Given the description of an element on the screen output the (x, y) to click on. 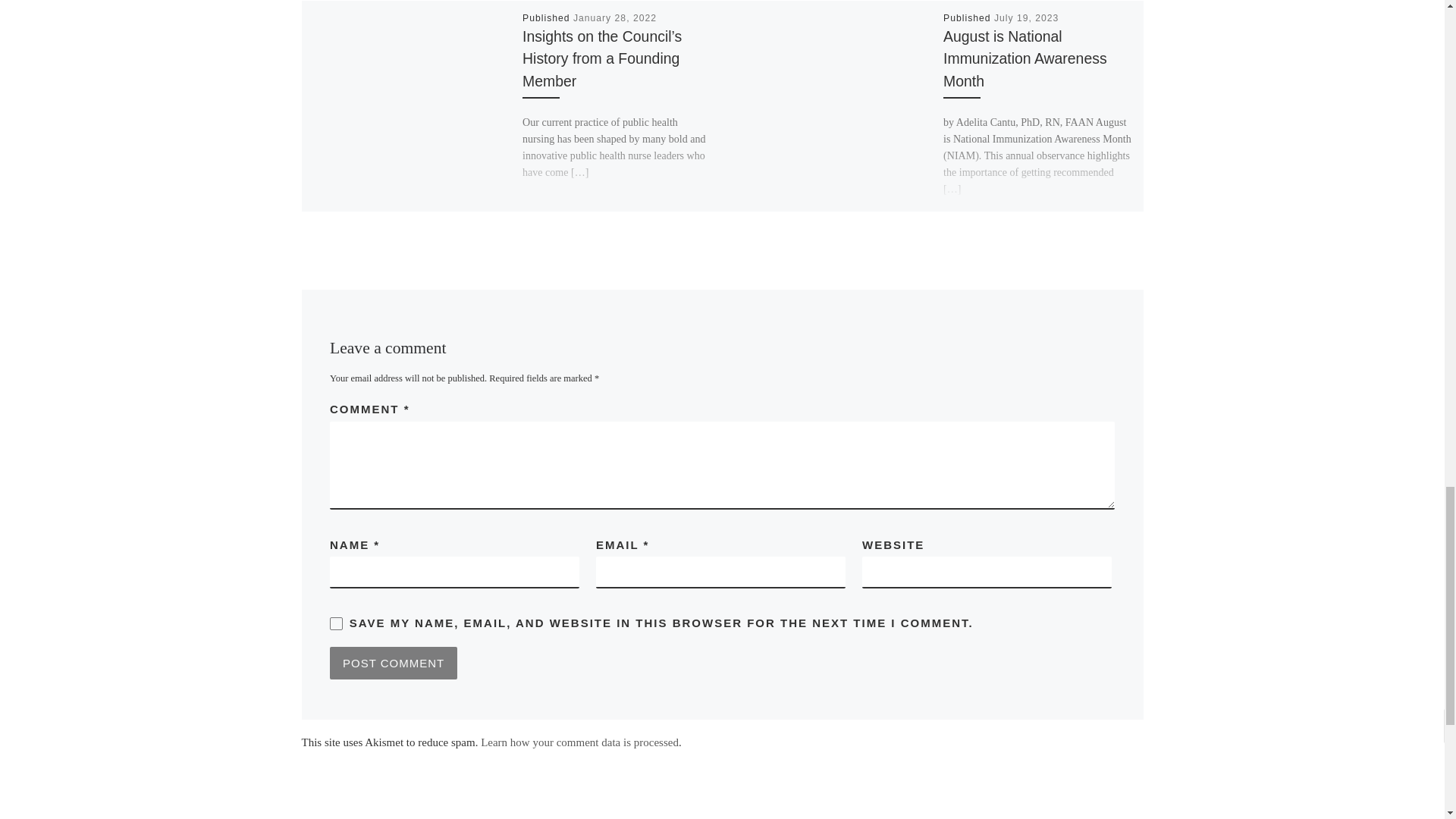
yes (336, 623)
July 19, 2023 (1026, 18)
January 28, 2022 (614, 18)
Post Comment (393, 662)
